Given the description of an element on the screen output the (x, y) to click on. 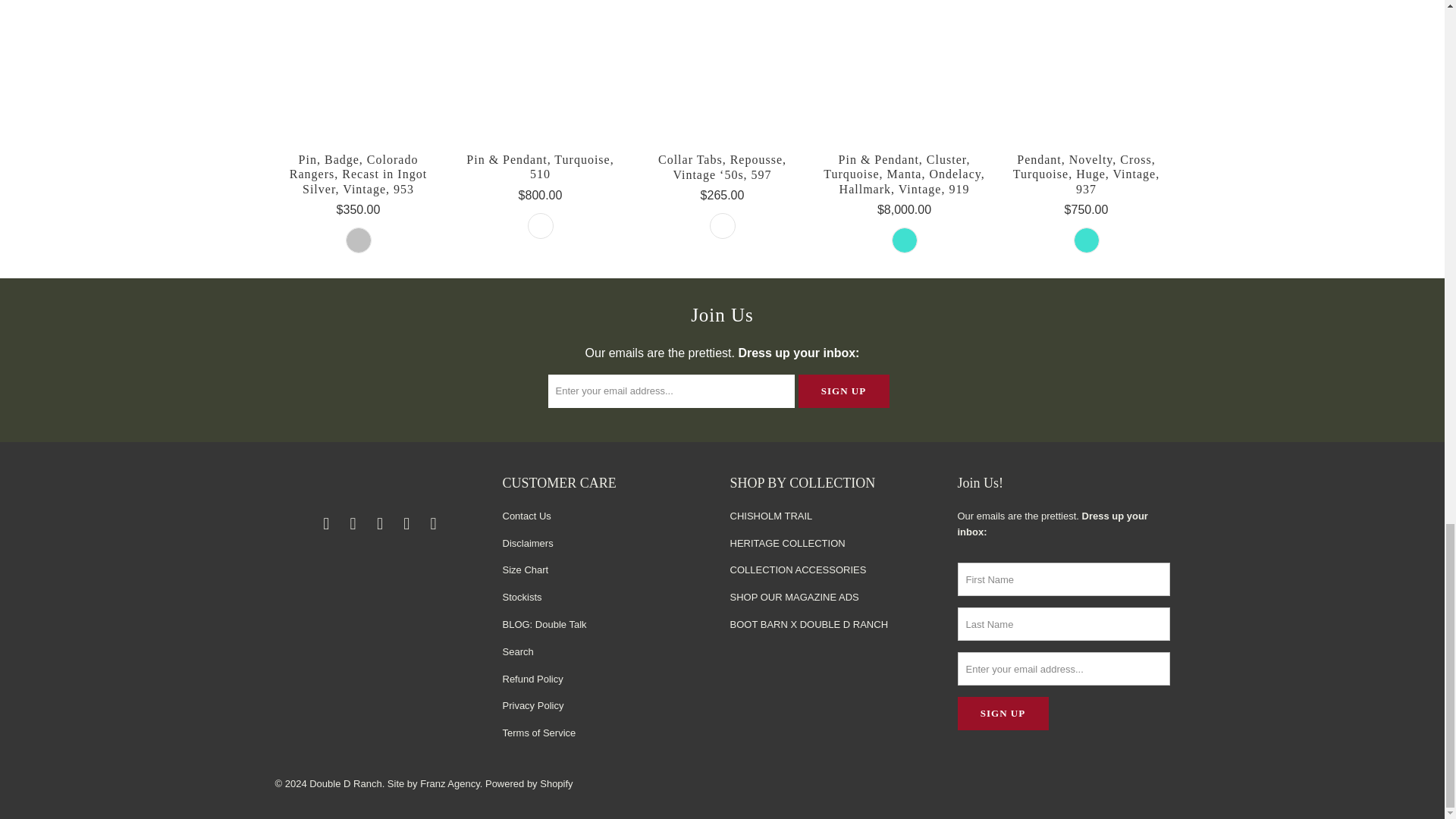
Sign Up (1002, 713)
Email Double D Ranch (326, 524)
Sign Up (842, 390)
